Given the description of an element on the screen output the (x, y) to click on. 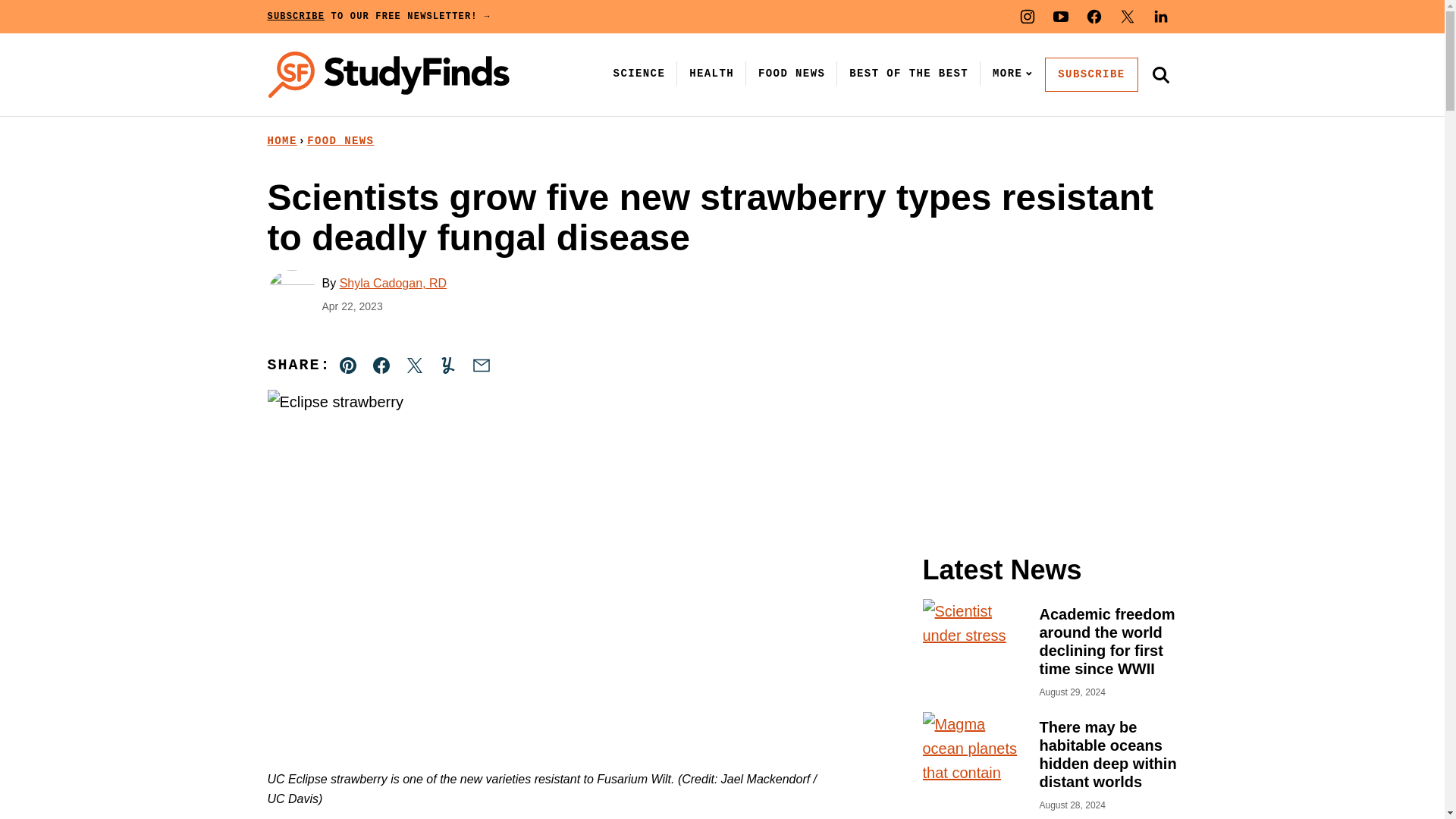
HOME (281, 141)
FOOD NEWS (340, 141)
Share on Facebook (381, 365)
BEST OF THE BEST (908, 73)
SUBSCRIBE (1091, 74)
HEALTH (711, 73)
Share on Pinterest (348, 365)
Share on Yummly (447, 365)
MORE (1009, 73)
Share via Email (480, 365)
